Given the description of an element on the screen output the (x, y) to click on. 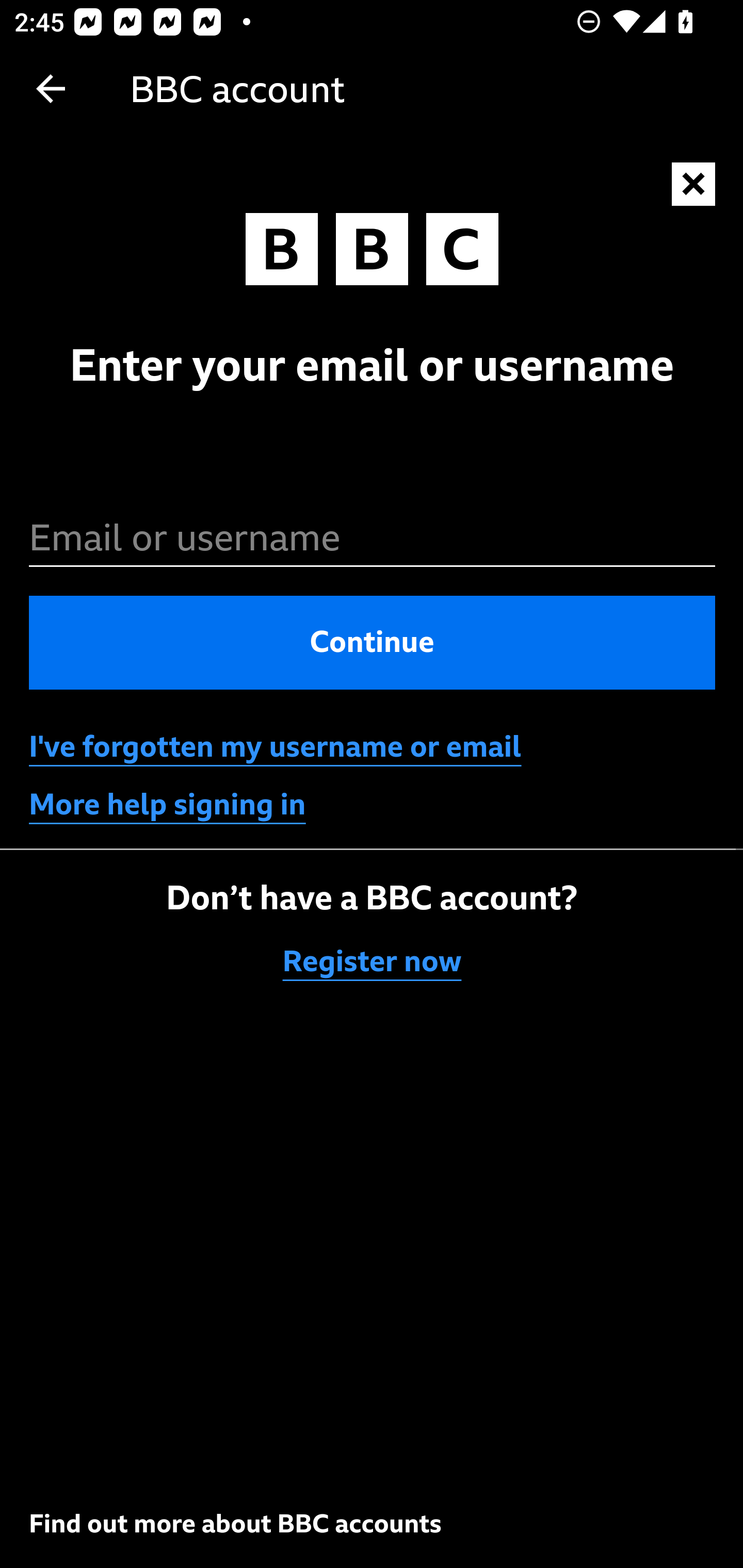
Close and return to where you originally came from (694, 184)
Go to the BBC Homepage (371, 253)
Continue (372, 641)
I've forgotten my username or email (274, 747)
More help signing in (167, 805)
Register now (372, 960)
Find out more about BBC accounts (235, 1522)
